Given the description of an element on the screen output the (x, y) to click on. 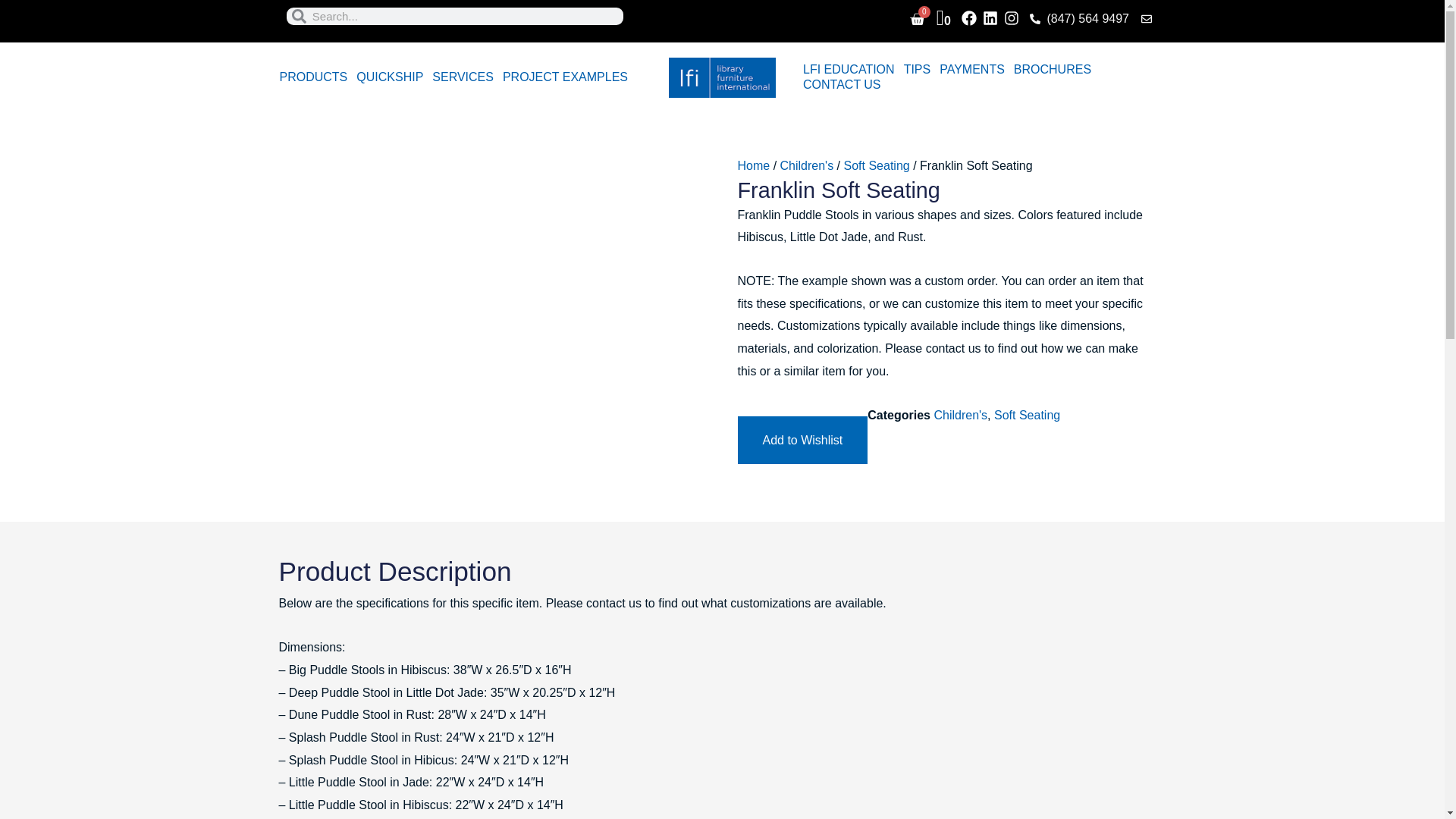
PROJECT EXAMPLES (916, 20)
SERVICES (564, 77)
QUICKSHIP (462, 77)
Linkedin (390, 77)
0 (990, 17)
PRODUCTS (943, 20)
Facebook (313, 77)
Instagram (968, 17)
